Given the description of an element on the screen output the (x, y) to click on. 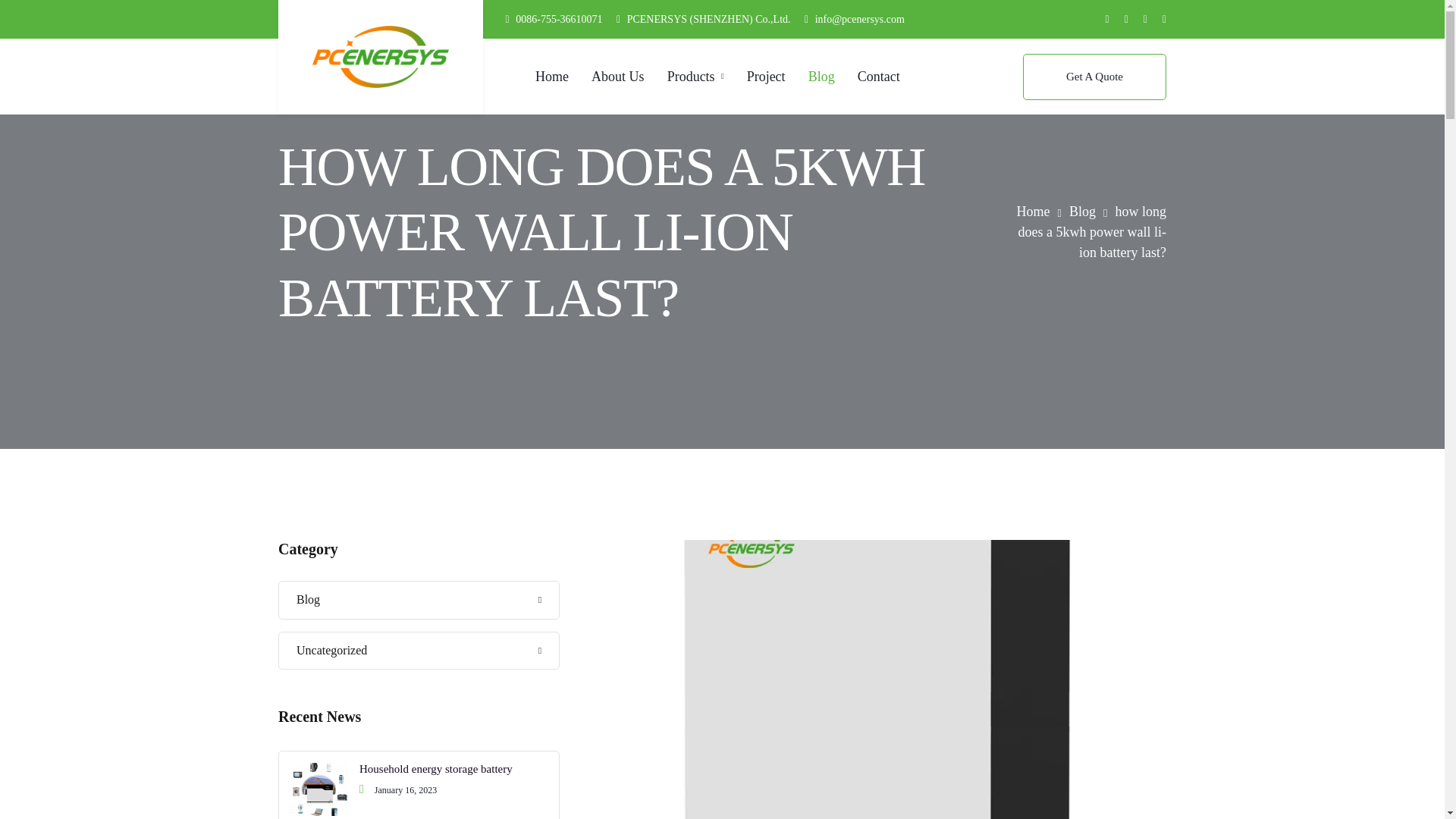
0086-755-36610071 (558, 19)
PCENERSYS (380, 56)
